Given the description of an element on the screen output the (x, y) to click on. 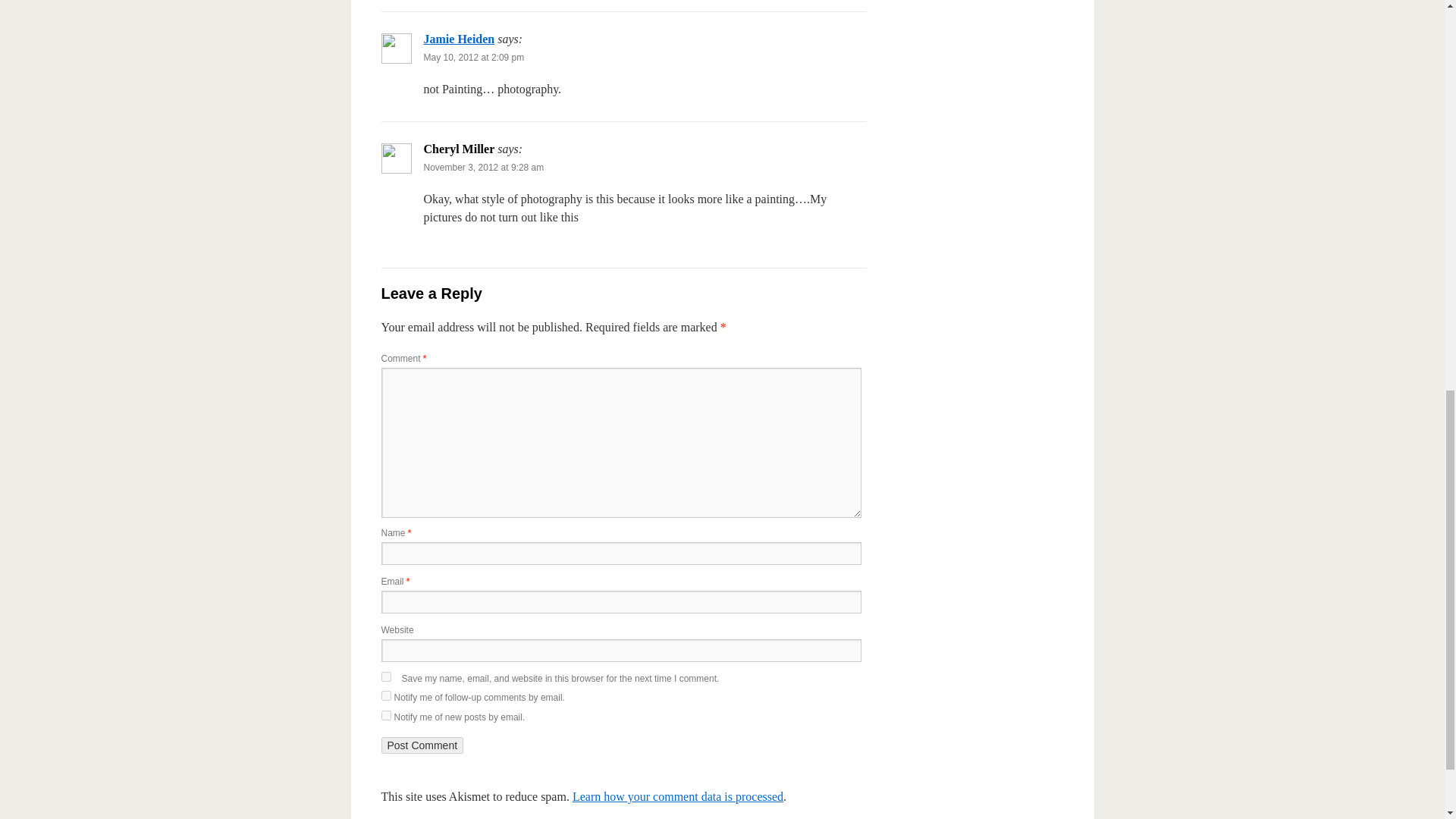
Jamie Heiden (459, 38)
November 3, 2012 at 9:28 am (483, 167)
yes (385, 676)
Post Comment (421, 745)
subscribe (385, 715)
Learn how your comment data is processed (677, 796)
Post Comment (421, 745)
subscribe (385, 696)
May 10, 2012 at 2:09 pm (473, 57)
